Given the description of an element on the screen output the (x, y) to click on. 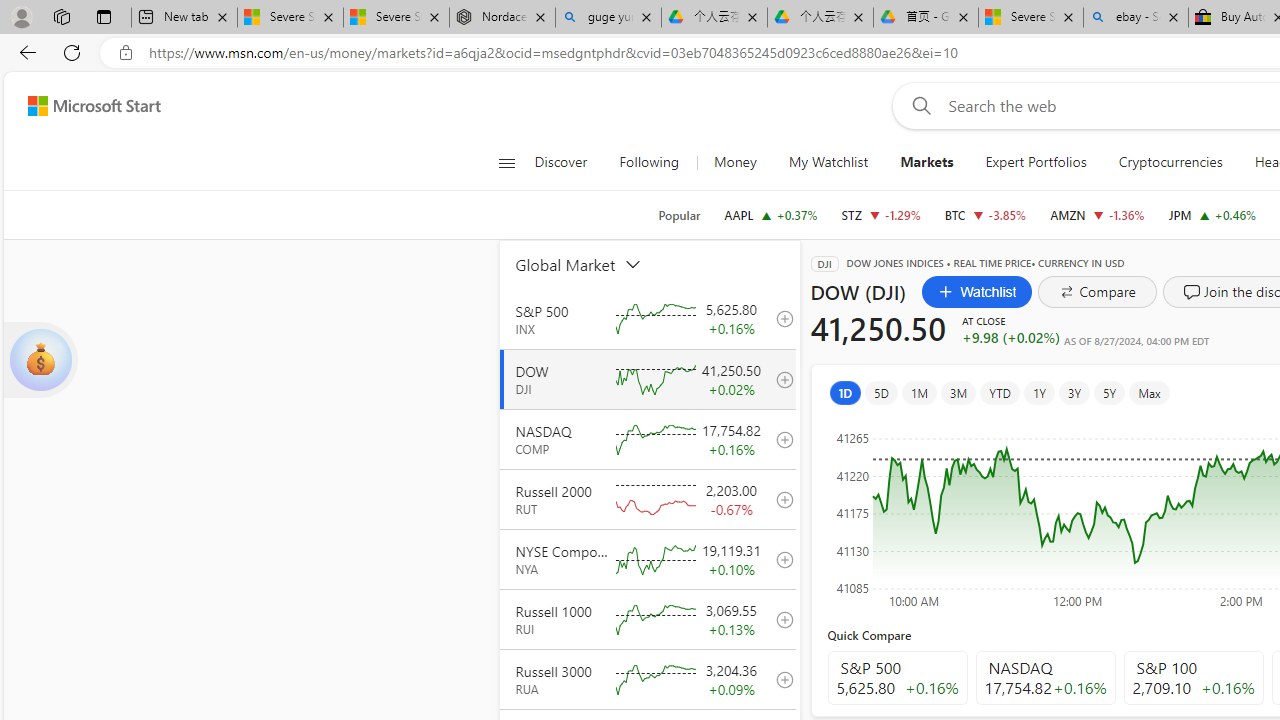
5D (881, 392)
BTC Bitcoin decrease 60,014.19 -2,311.75 -3.85% (985, 214)
JPM JPMORGAN CHASE & CO. increase 220.18 +1.01 +0.46% (1211, 214)
Popular (679, 215)
Watchlist (976, 291)
Cryptocurrencies (1170, 162)
add to your watchlist (779, 678)
